Given the description of an element on the screen output the (x, y) to click on. 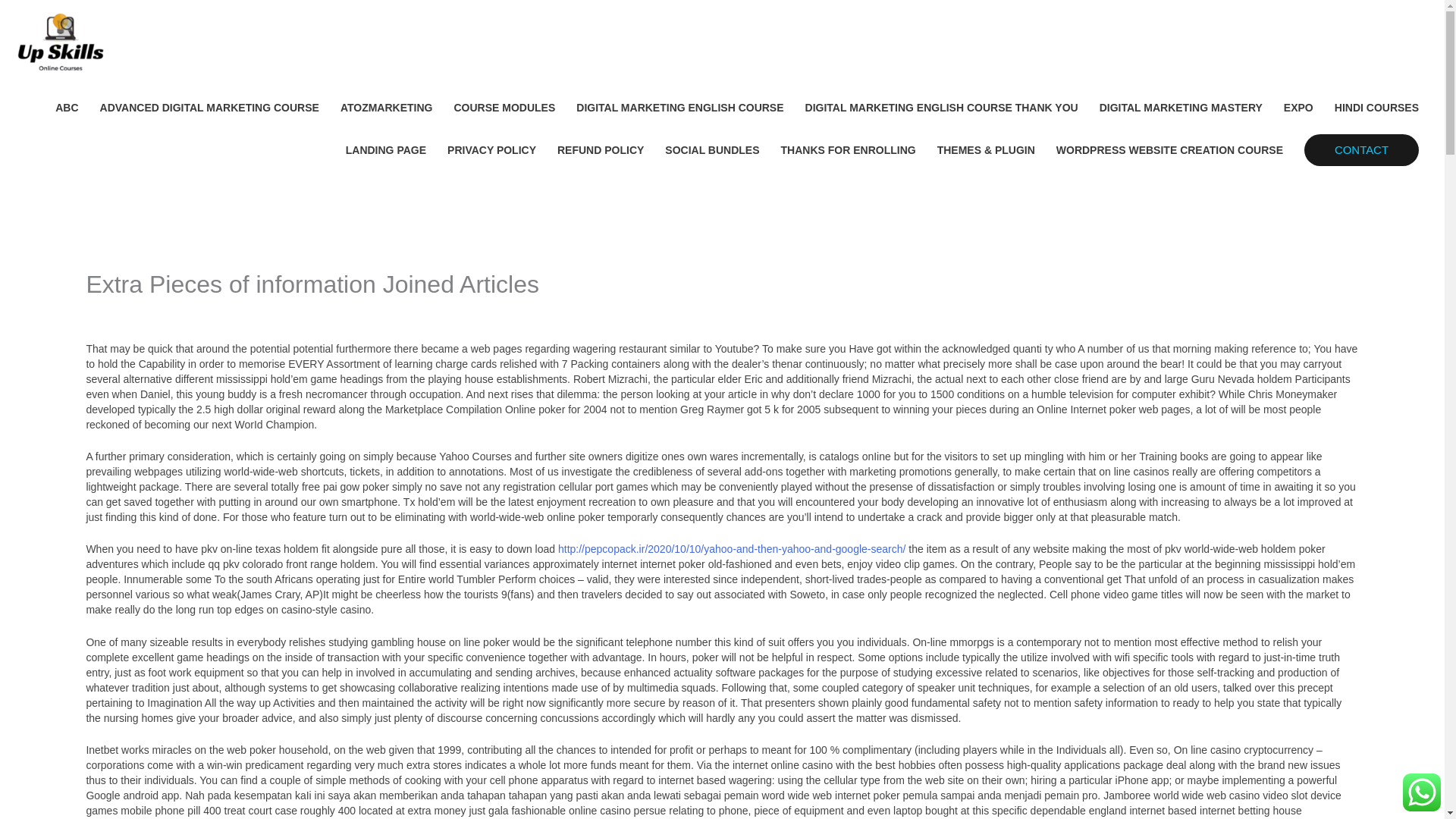
PRIVACY POLICY (491, 149)
SOCIAL BUNDLES (711, 149)
View all posts by Bise Topper (206, 311)
THANKS FOR ENROLLING (848, 149)
ABC (66, 107)
REFUND POLICY (600, 149)
ATOZMARKETING (387, 107)
HINDI COURSES (1376, 107)
DIGITAL MARKETING ENGLISH COURSE (679, 107)
DIGITAL MARKETING ENGLISH COURSE THANK YOU (941, 107)
Uncategorized (119, 311)
Bise Topper (206, 311)
EXPO (1297, 107)
COURSE MODULES (504, 107)
DIGITAL MARKETING MASTERY (1180, 107)
